Given the description of an element on the screen output the (x, y) to click on. 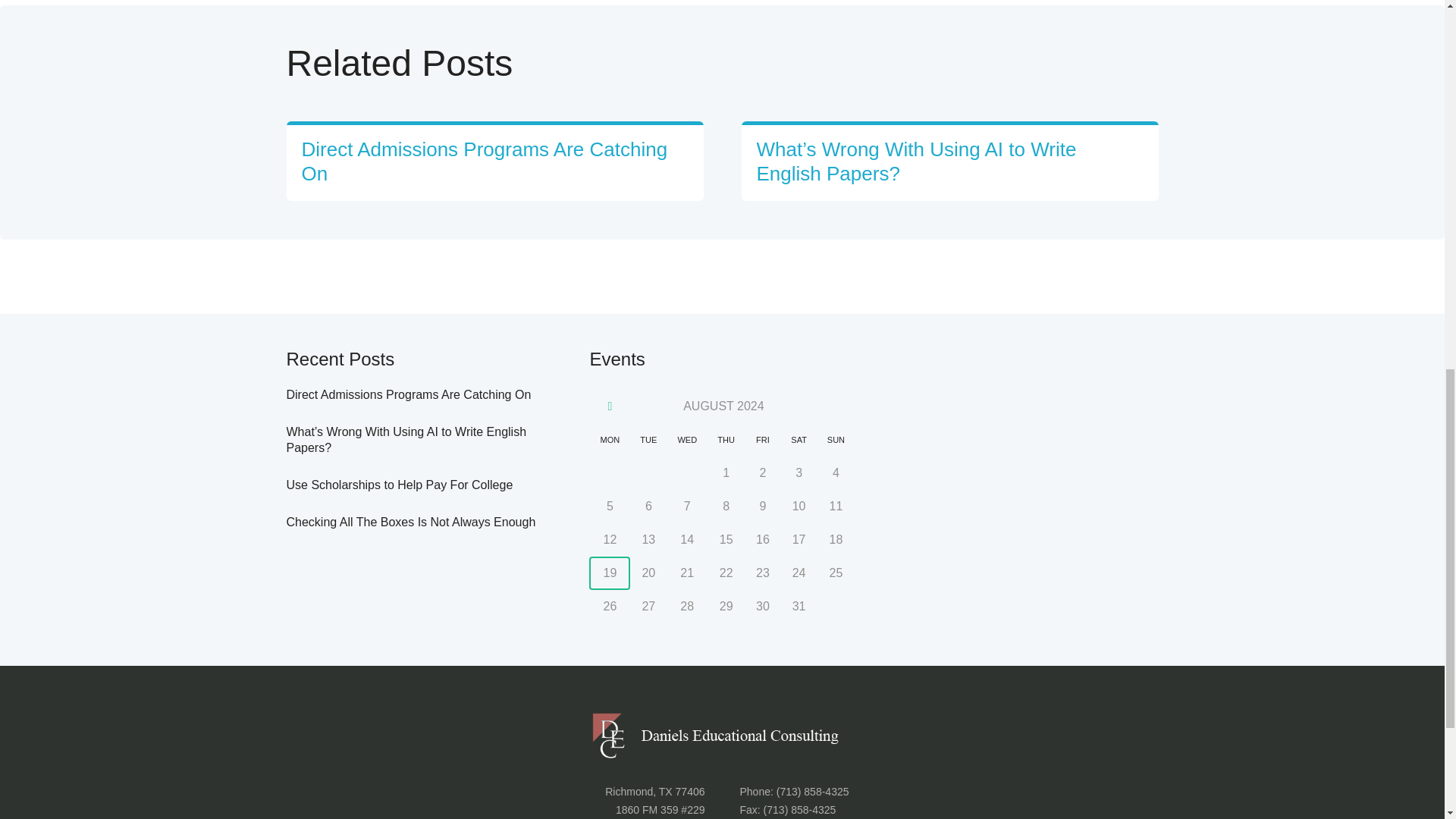
Direct Admissions Programs Are Catching On (408, 394)
Monday (609, 439)
Friday (762, 439)
Direct Admissions Programs Are Catching On (484, 161)
Sunday (835, 439)
Saturday (798, 439)
View posts for July 2024 (609, 406)
Thursday (725, 439)
Wednesday (686, 439)
Tuesday (648, 439)
